Given the description of an element on the screen output the (x, y) to click on. 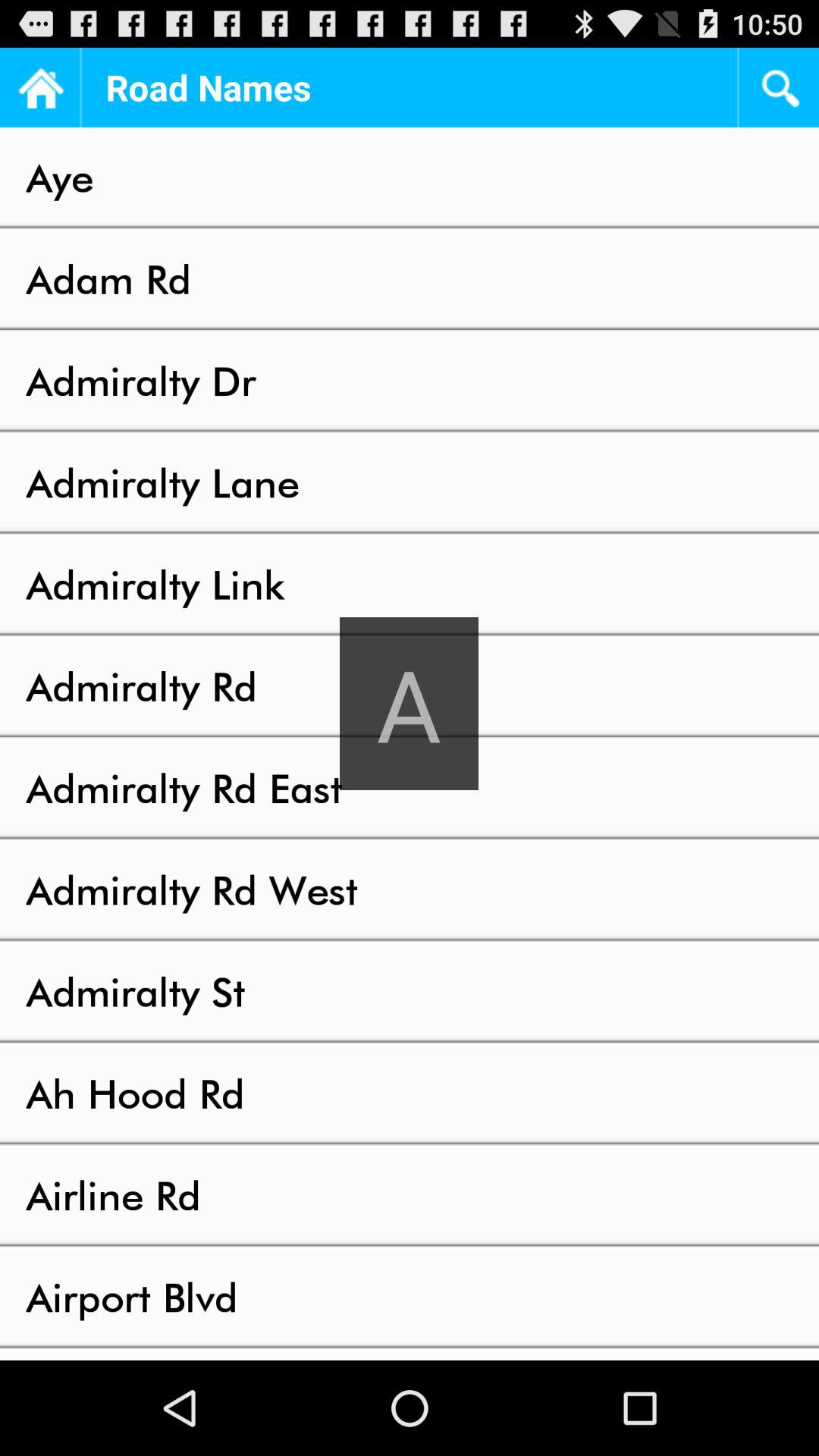
select search icon which is at top right side of the page (779, 87)
